Given the description of an element on the screen output the (x, y) to click on. 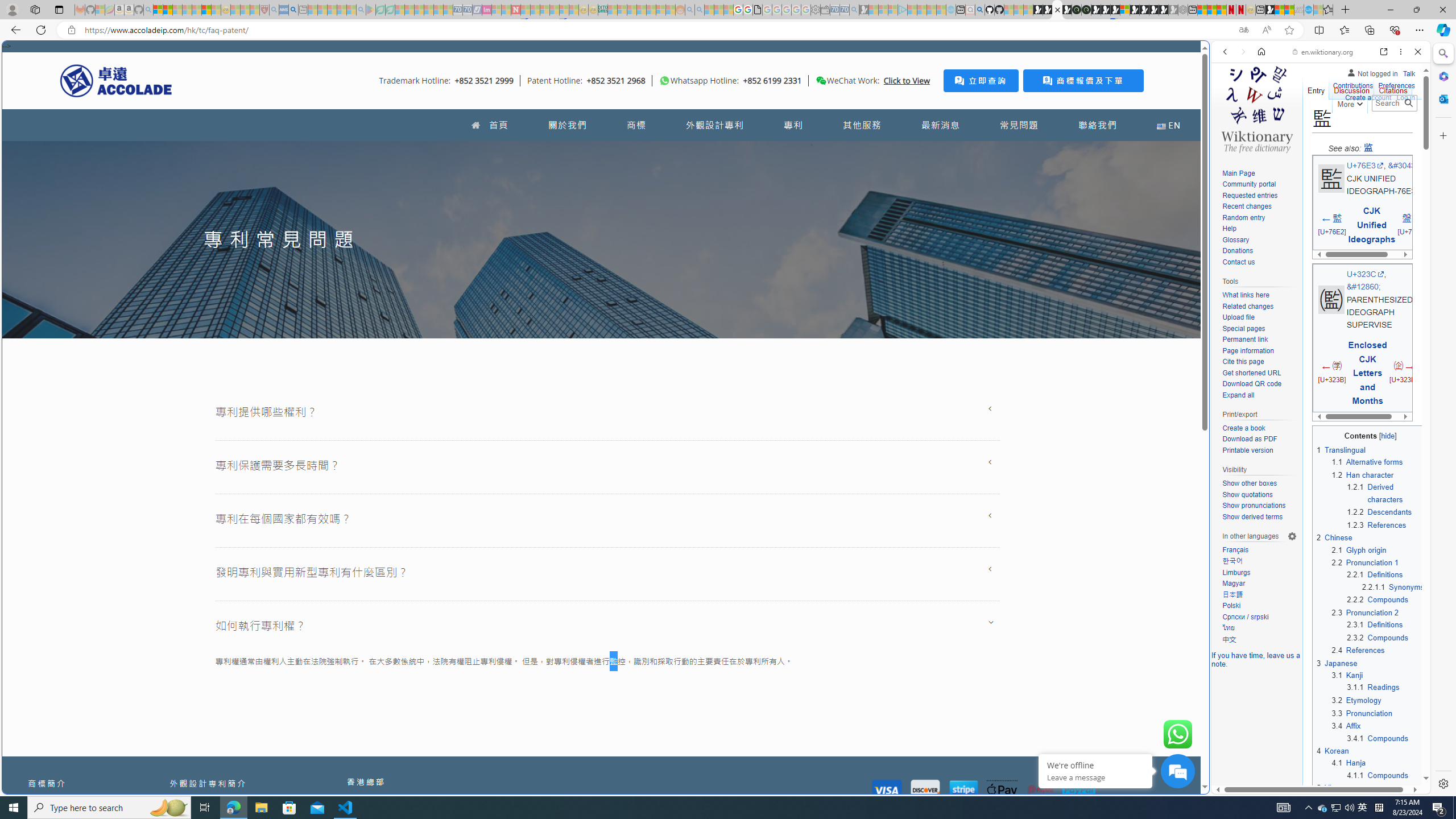
Glossary (1235, 239)
3.4Affix3.4.1Compounds (1377, 731)
Download QR code (1259, 383)
3.3 Pronunciation (1361, 712)
utah sues federal government - Search (292, 9)
Requested entries (1259, 196)
&#12860; (1363, 286)
2.4 References (1357, 650)
